Given the description of an element on the screen output the (x, y) to click on. 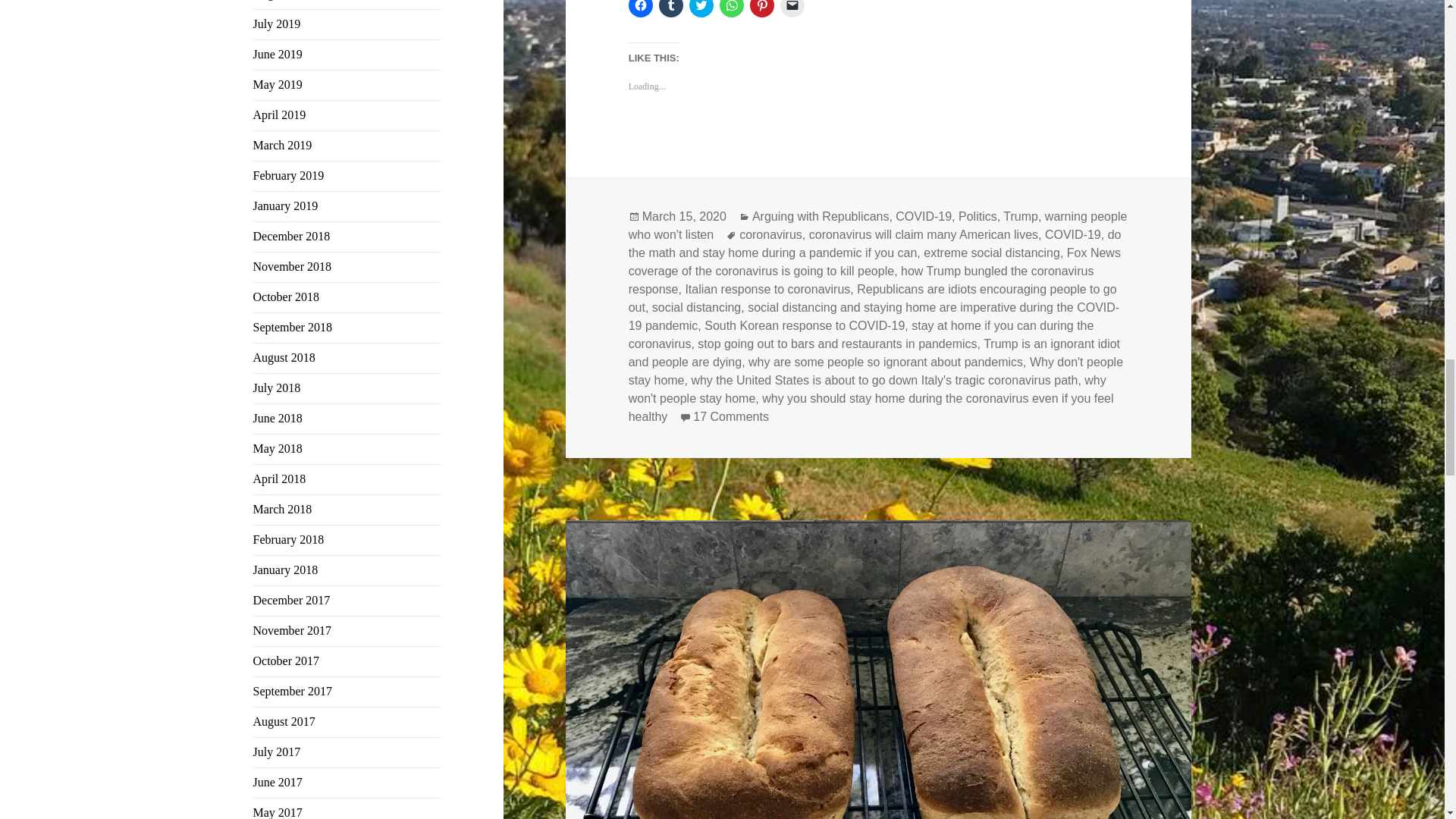
Click to share on Pinterest (761, 8)
Click to email a link to a friend (792, 8)
Click to share on Tumblr (670, 8)
Click to share on Twitter (700, 8)
Click to share on WhatsApp (731, 8)
Click to share on Facebook (640, 8)
